Given the description of an element on the screen output the (x, y) to click on. 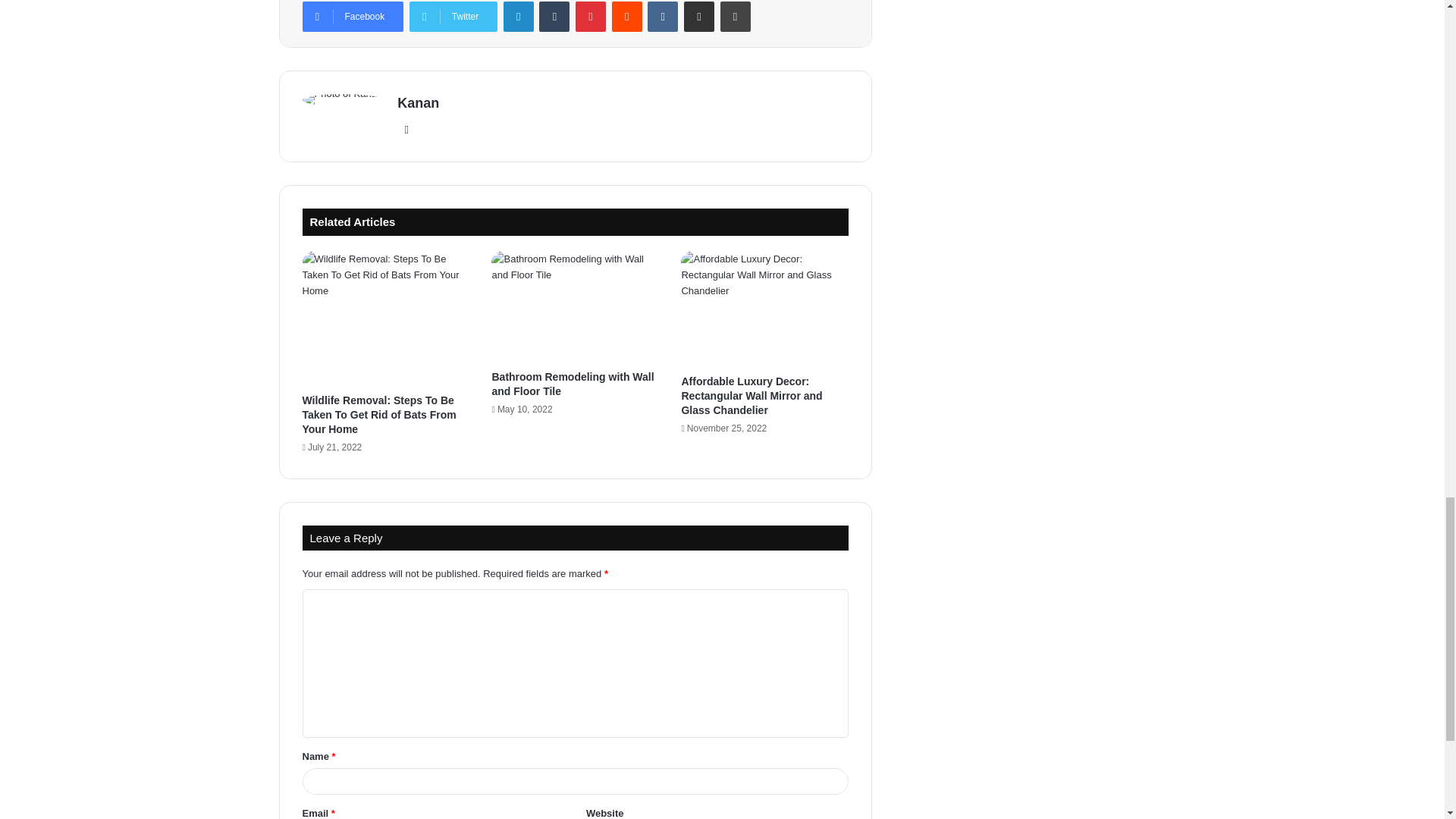
Reddit (626, 16)
Pinterest (590, 16)
Pinterest (590, 16)
Twitter (453, 16)
Tumblr (553, 16)
Reddit (626, 16)
LinkedIn (518, 16)
Facebook (352, 16)
Facebook (352, 16)
VKontakte (662, 16)
Twitter (453, 16)
LinkedIn (518, 16)
Tumblr (553, 16)
Share via Email (699, 16)
